Given the description of an element on the screen output the (x, y) to click on. 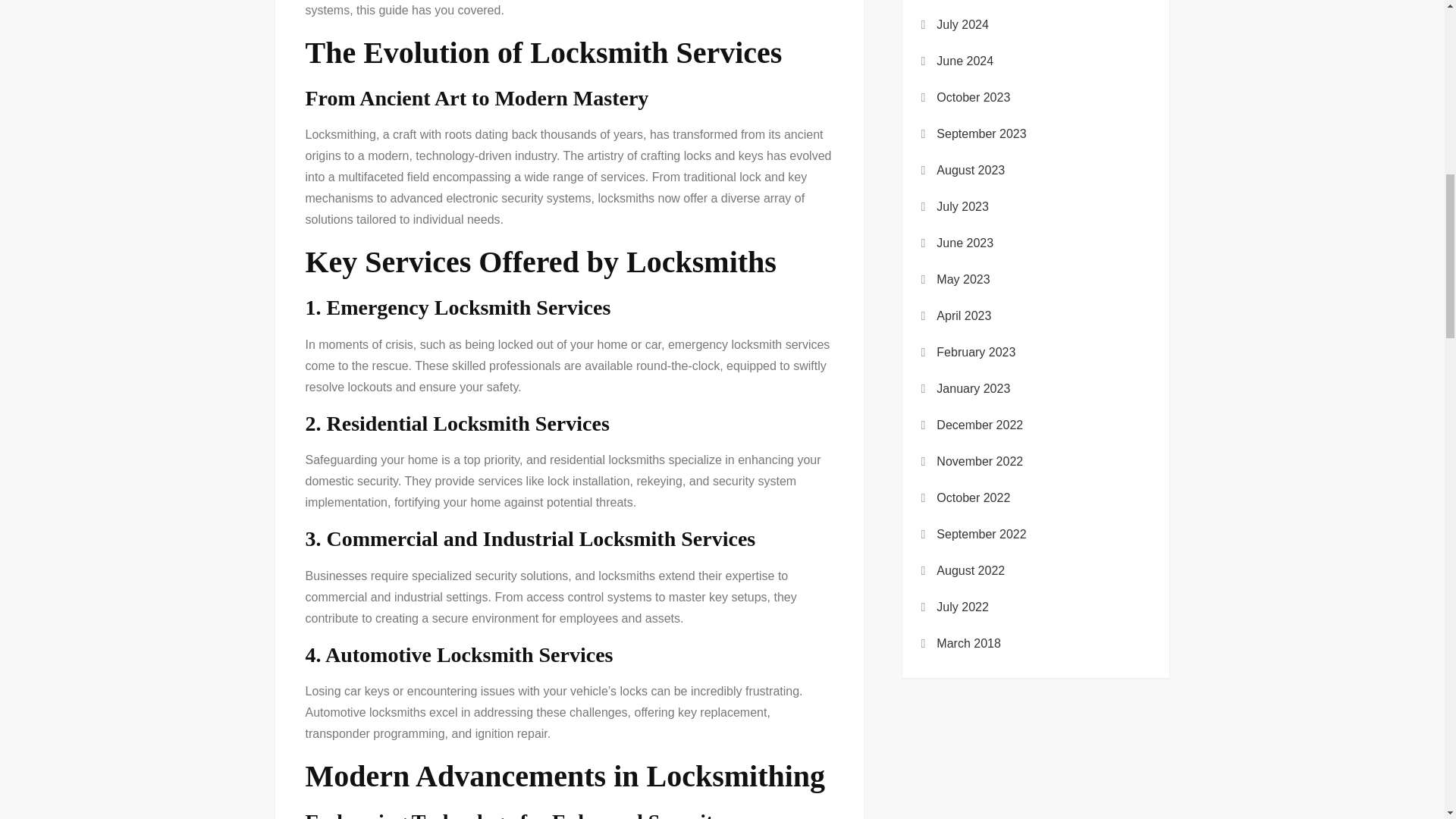
December 2022 (979, 424)
September 2023 (981, 133)
July 2022 (962, 607)
November 2022 (979, 461)
May 2023 (963, 279)
January 2023 (973, 388)
August 2022 (970, 570)
June 2023 (964, 242)
June 2024 (964, 61)
August 2023 (970, 169)
